Given the description of an element on the screen output the (x, y) to click on. 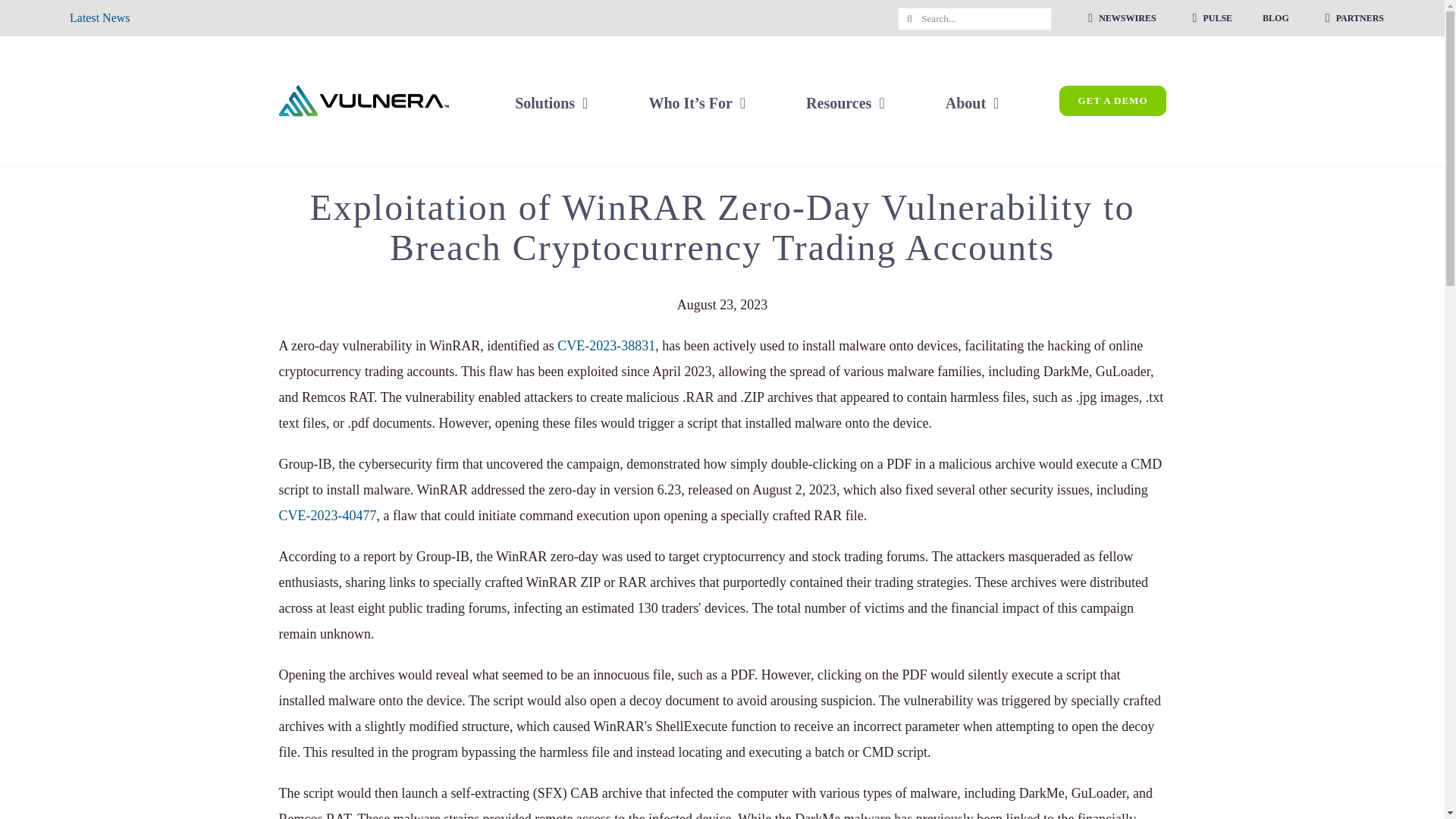
NEWSWIRES (1118, 18)
PULSE (1209, 18)
Solutions (551, 100)
PARTNERS (1351, 18)
